Given the description of an element on the screen output the (x, y) to click on. 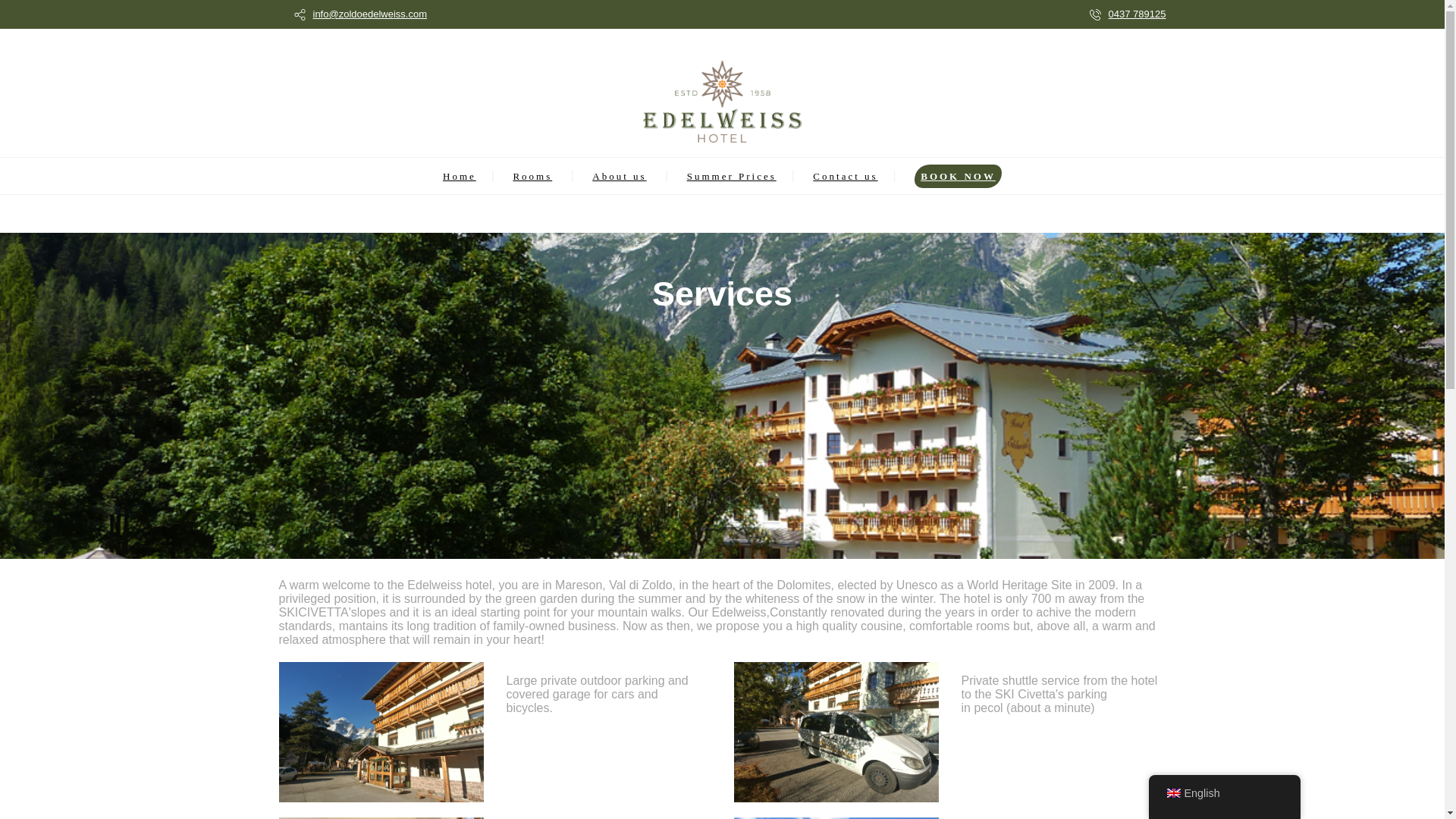
Rooms (531, 175)
English (1172, 792)
About us (619, 175)
0437 789125 (1137, 13)
Home (459, 175)
